Given the description of an element on the screen output the (x, y) to click on. 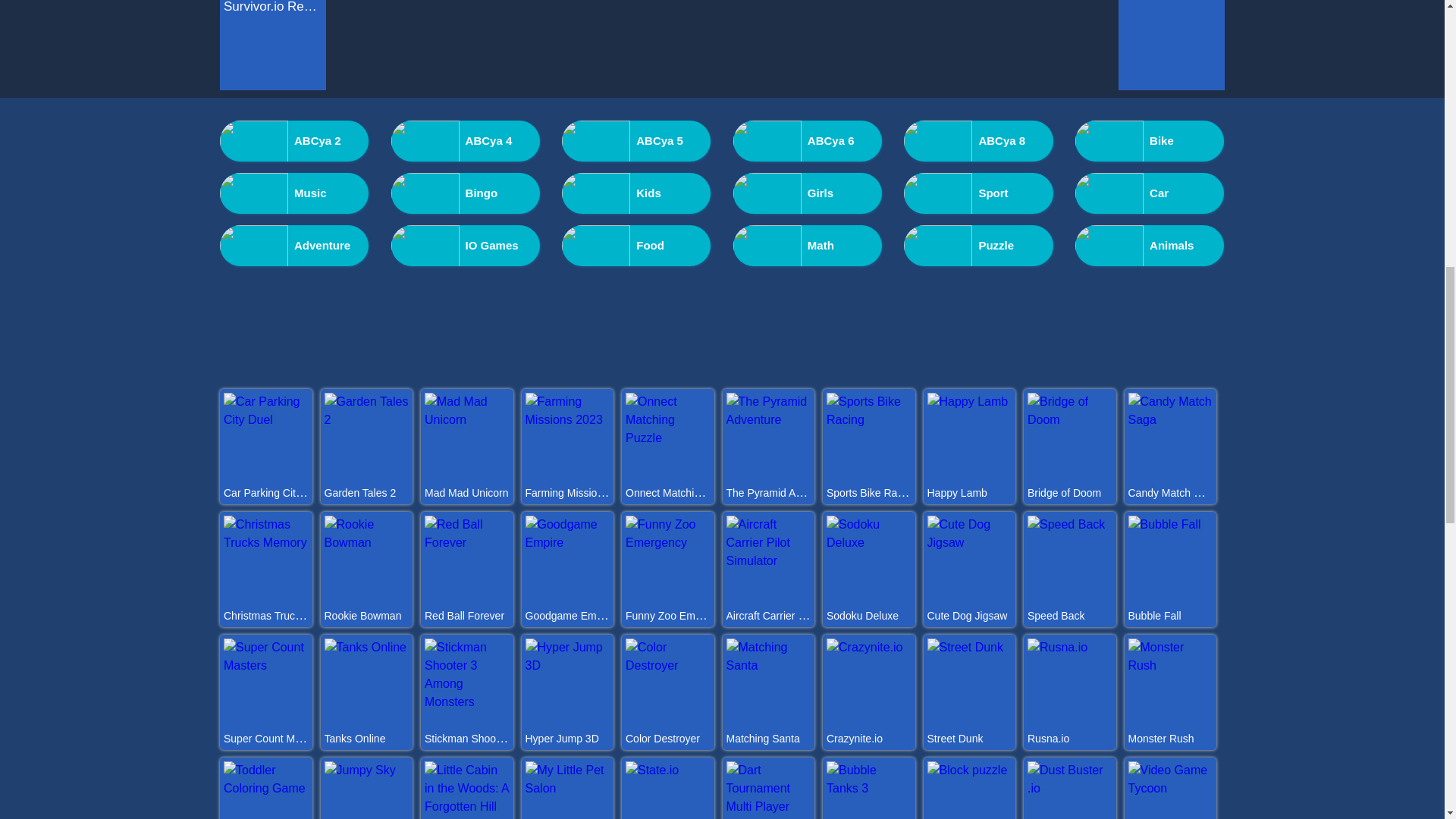
ABCya 5 (636, 140)
ABCya 4 (465, 140)
ABCya 2 (293, 140)
Survivor.io Revenge (272, 7)
ABCya 6 (807, 140)
